Given the description of an element on the screen output the (x, y) to click on. 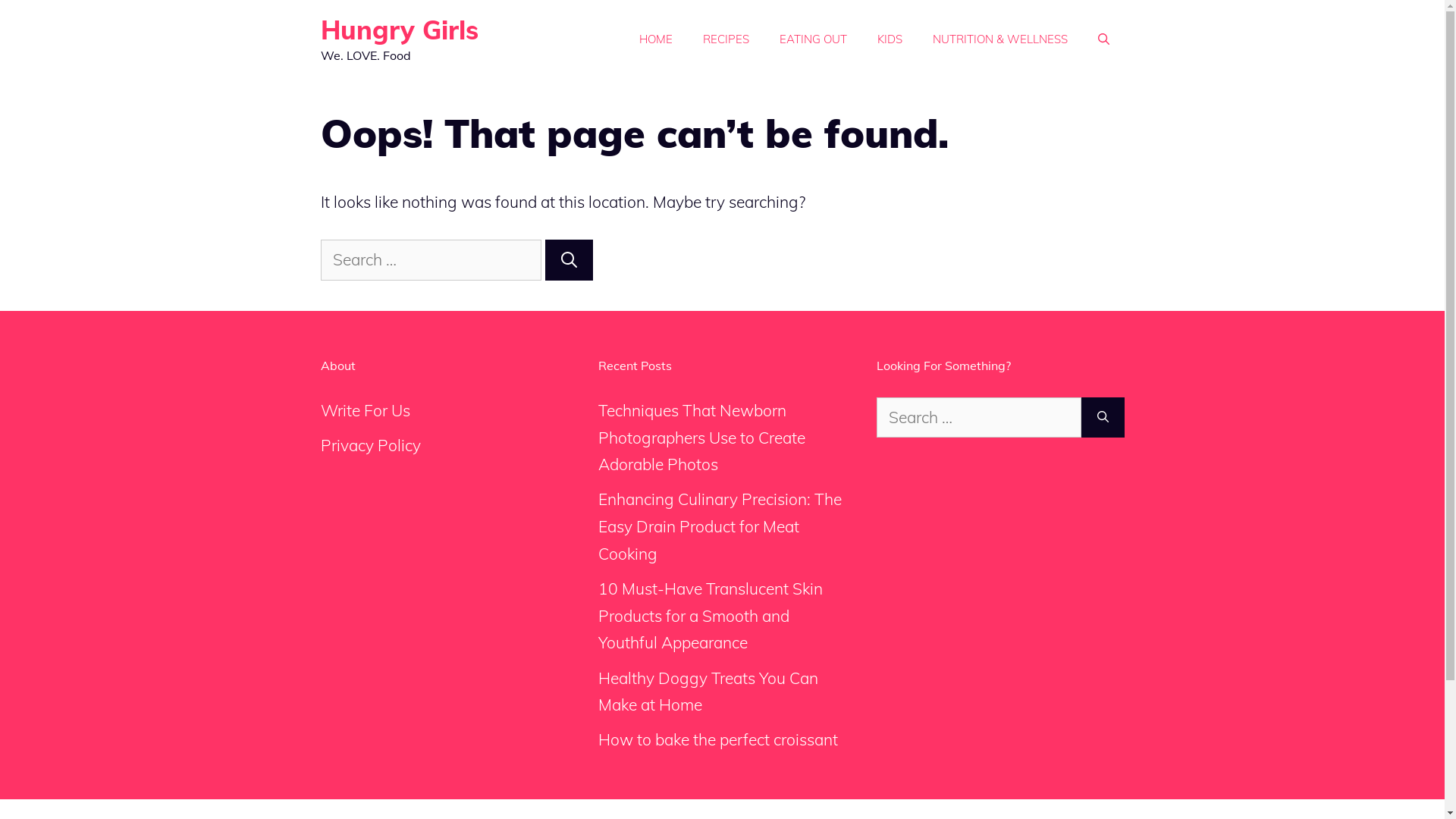
RECIPES Element type: text (725, 39)
KIDS Element type: text (888, 39)
Hungry Girls Element type: text (398, 29)
NUTRITION & WELLNESS Element type: text (999, 39)
Write For Us Element type: text (364, 410)
HOME Element type: text (655, 39)
Search for: Element type: hover (978, 417)
Search for: Element type: hover (430, 259)
Healthy Doggy Treats You Can Make at Home Element type: text (708, 691)
How to bake the perfect croissant Element type: text (717, 739)
Privacy Policy Element type: text (370, 445)
EATING OUT Element type: text (813, 39)
